Given the description of an element on the screen output the (x, y) to click on. 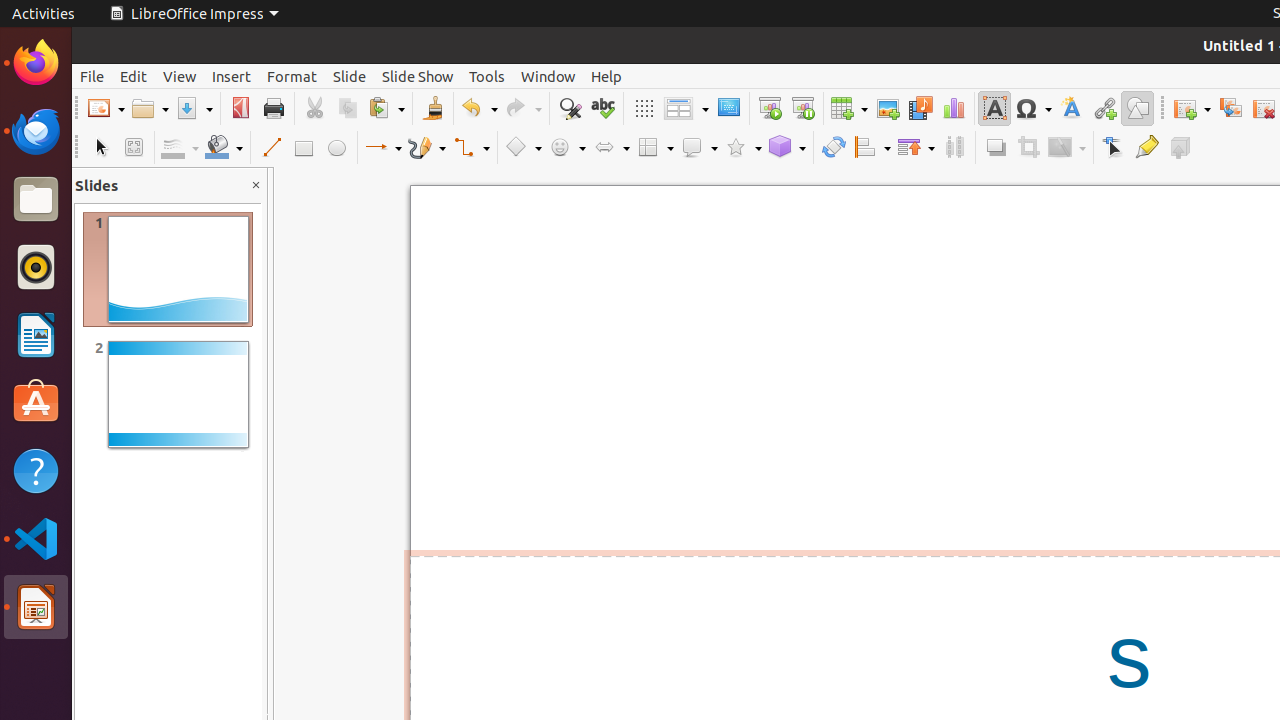
Connectors Element type: push-button (471, 147)
Close Pane Element type: push-button (255, 185)
Files Element type: push-button (36, 199)
Image Element type: push-button (887, 108)
Clone Element type: push-button (432, 108)
